Given the description of an element on the screen output the (x, y) to click on. 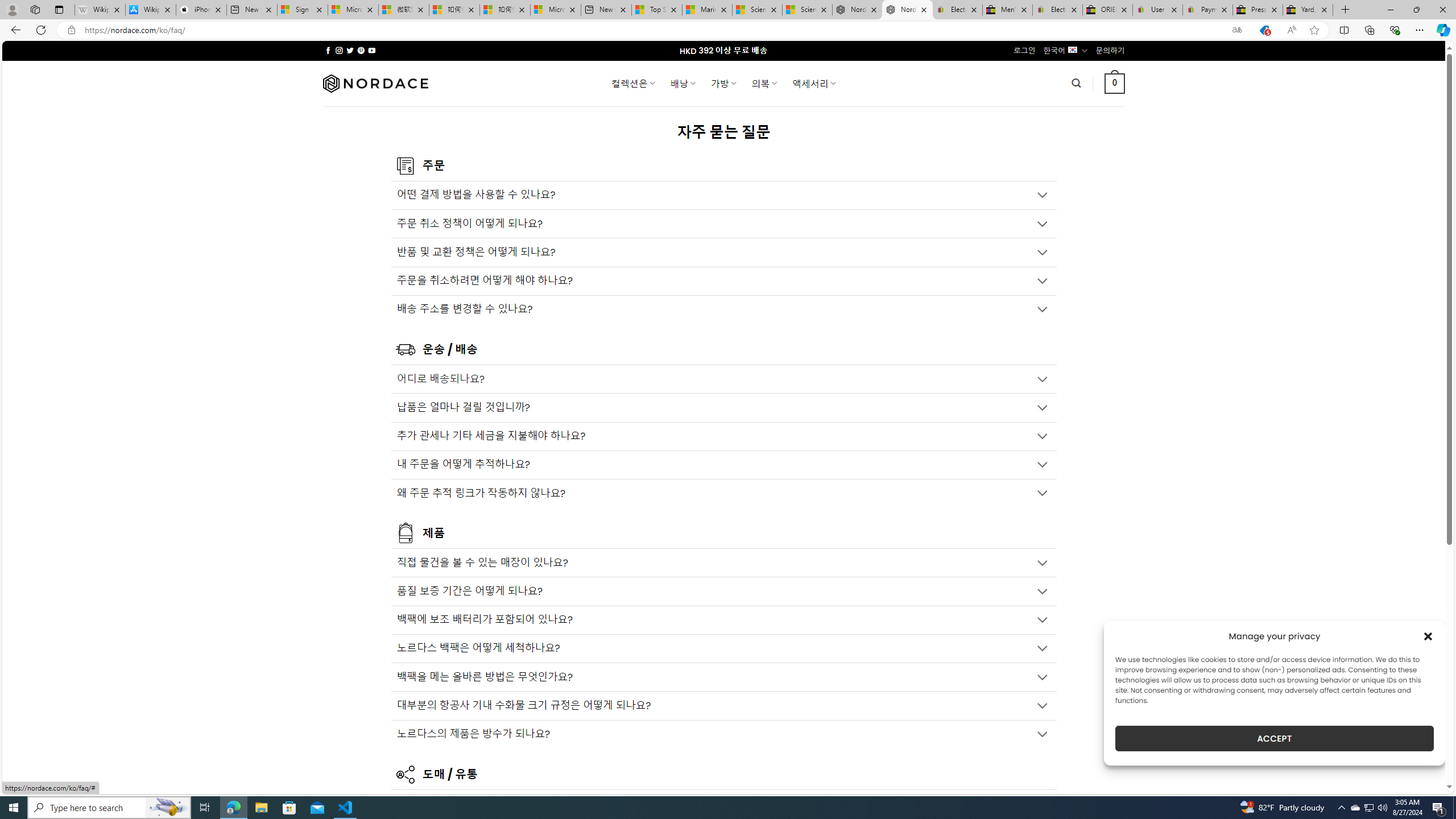
Nordace - Summer Adventures 2024 (856, 9)
